Given the description of an element on the screen output the (x, y) to click on. 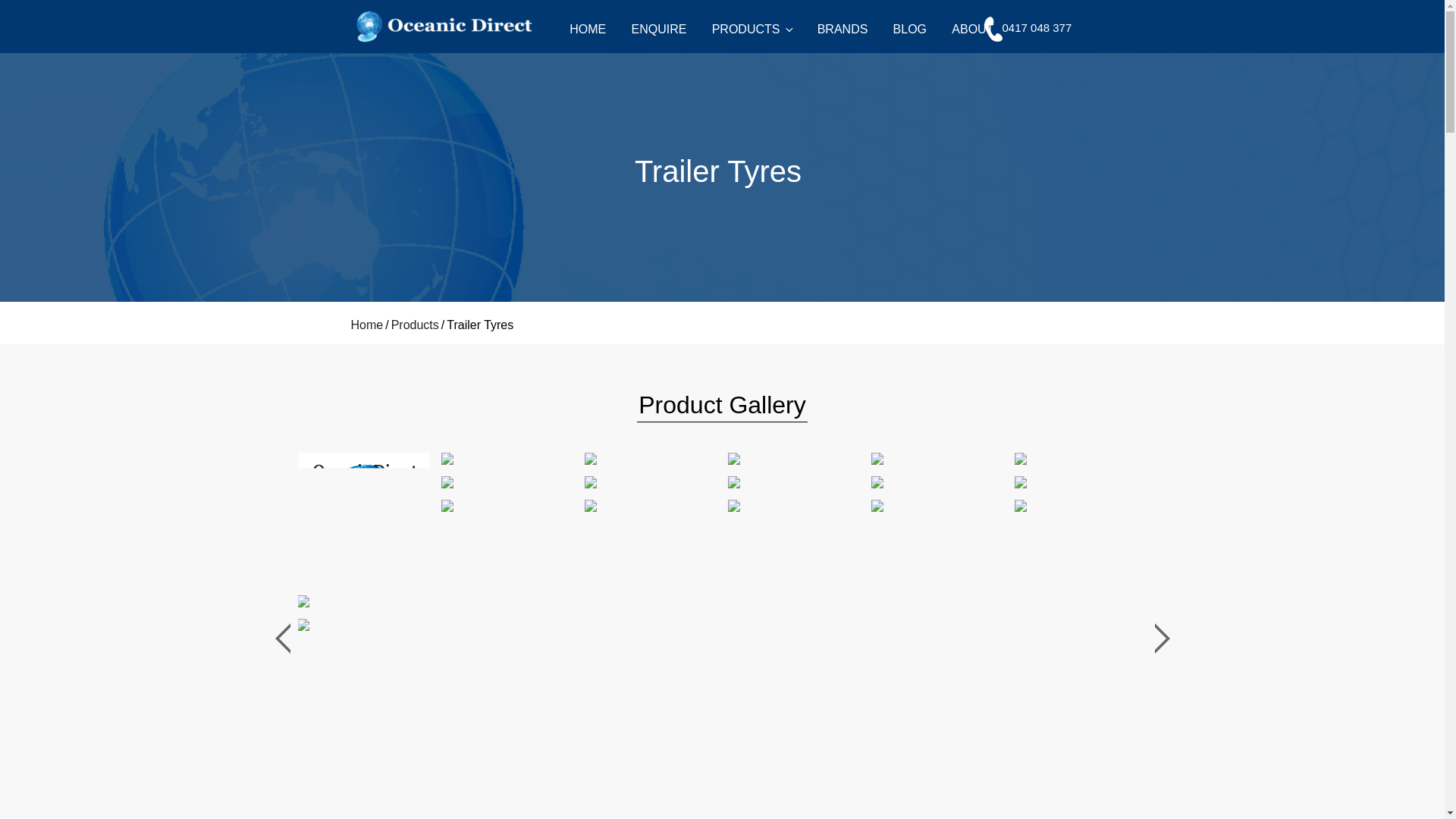
ENQUIRE (659, 29)
PRODUCTS (751, 29)
Products (415, 324)
Home (366, 324)
OCEANIC DIRECT (482, 67)
